Given the description of an element on the screen output the (x, y) to click on. 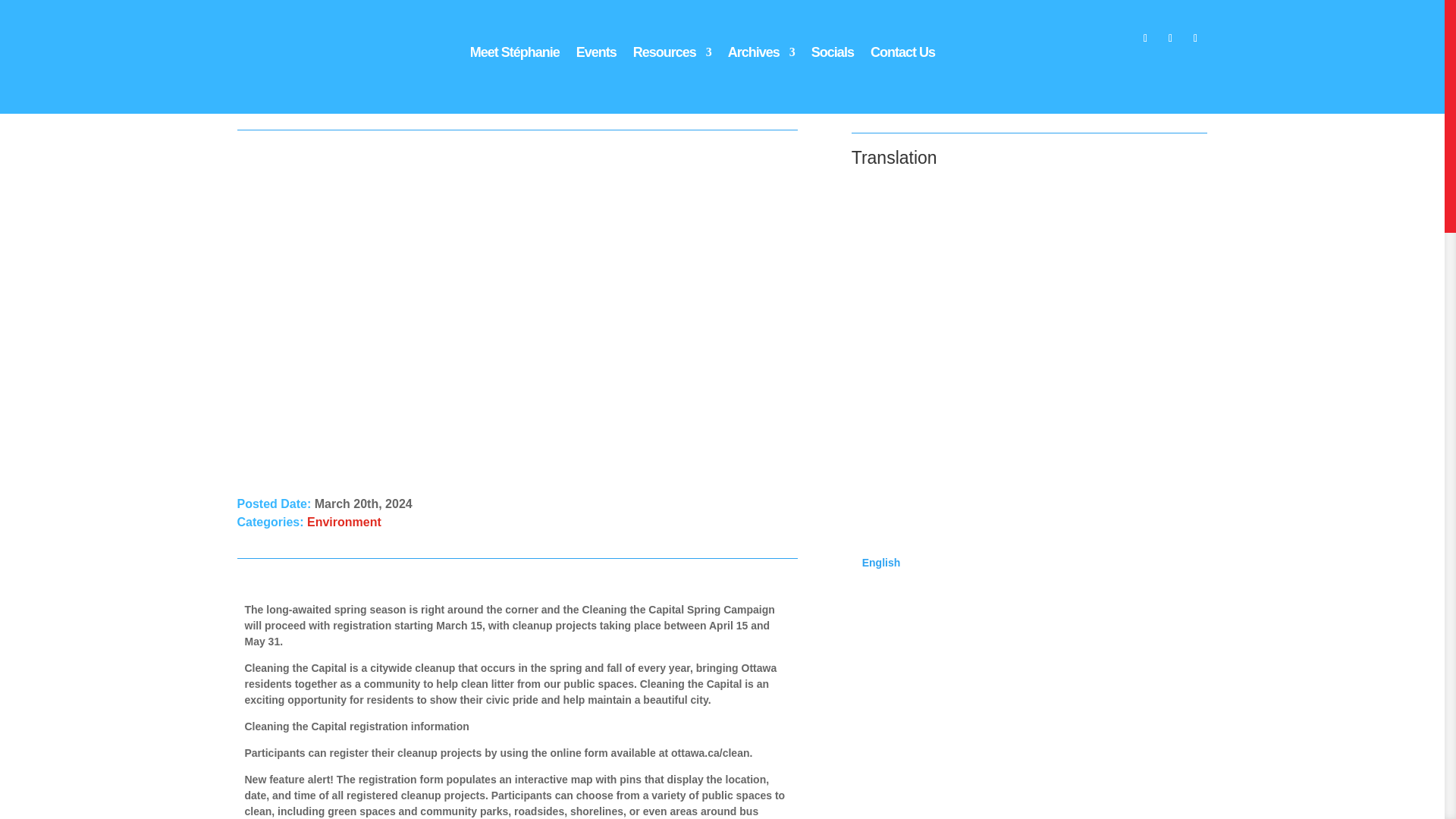
Archives (761, 54)
Resources (672, 54)
Search (24, 16)
Events (595, 54)
Contact Us (902, 54)
English (1034, 552)
SP Pill logo pride desktop (315, 42)
Follow on Instagram (1169, 38)
Follow on X (1194, 38)
